Given the description of an element on the screen output the (x, y) to click on. 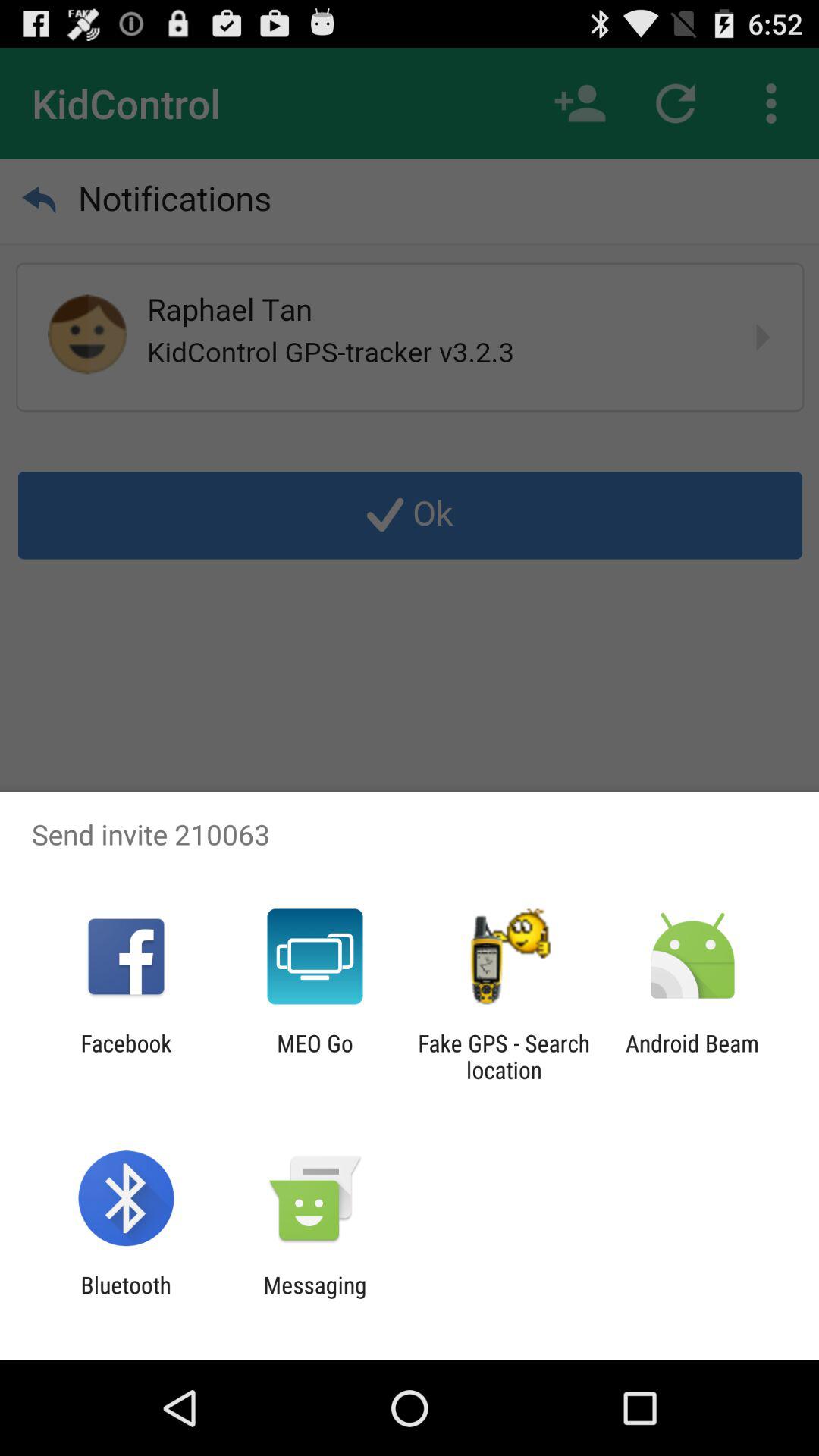
select the messaging (314, 1298)
